Given the description of an element on the screen output the (x, y) to click on. 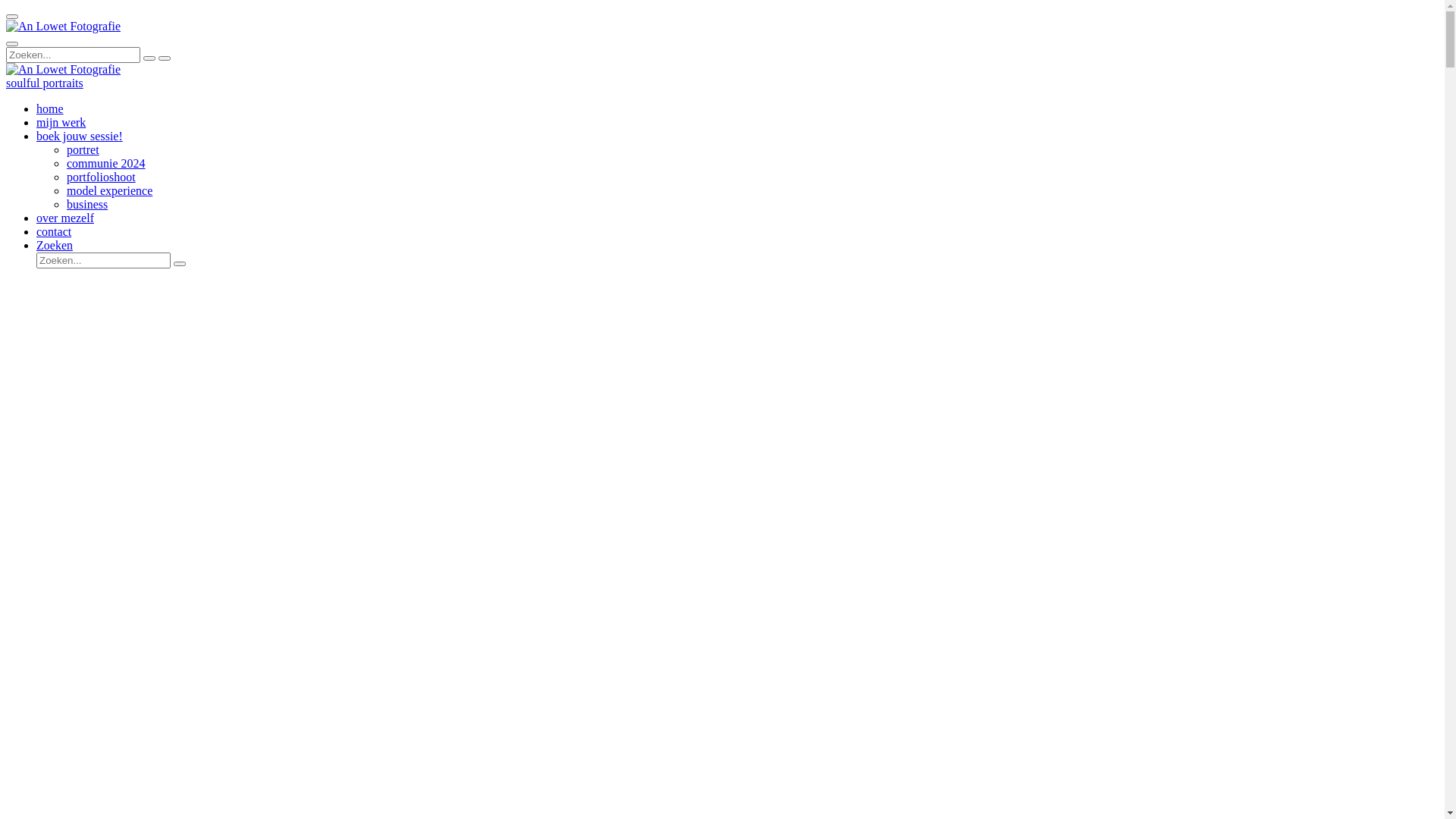
An Lowet Fotografie Element type: hover (63, 26)
mijn werk Element type: text (60, 122)
business Element type: text (86, 203)
contact Element type: text (53, 231)
communie 2024 Element type: text (105, 162)
home Element type: text (49, 108)
over mezelf Element type: text (65, 217)
Zoeken Element type: text (54, 244)
soulful portraits Element type: text (44, 82)
portret Element type: text (82, 149)
portfolioshoot Element type: text (100, 176)
boek jouw sessie! Element type: text (79, 135)
An Lowet Fotografie Element type: hover (63, 69)
model experience Element type: text (109, 190)
